Given the description of an element on the screen output the (x, y) to click on. 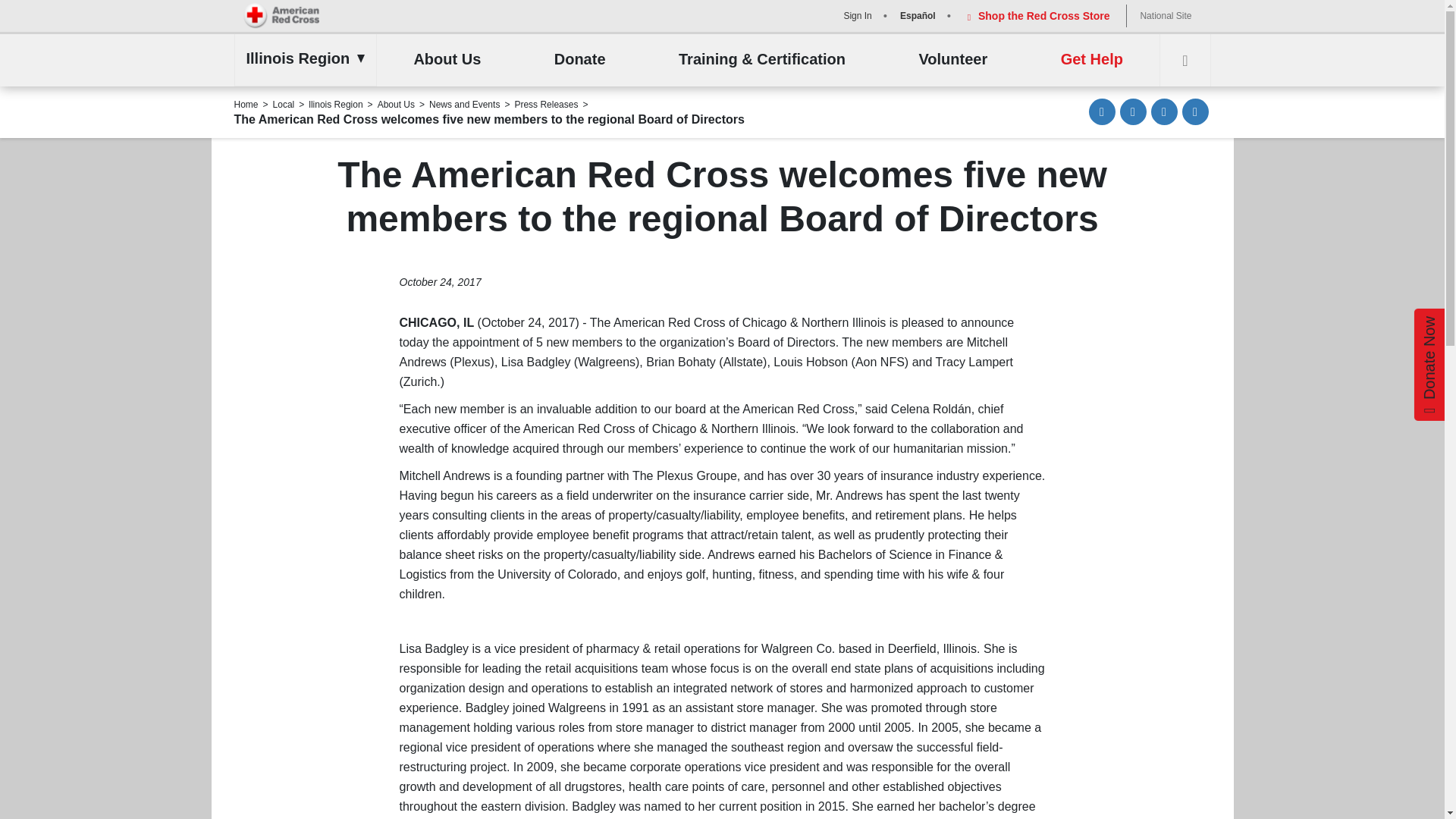
National Site (1164, 15)
Illinois Region (301, 57)
Donate (579, 59)
About Us (446, 59)
Share on Facebook (1132, 111)
Shop the Red Cross Store (1035, 15)
Share via Email (1102, 111)
Tweet (1164, 111)
Sign In (855, 15)
Other share options (1194, 111)
